Given the description of an element on the screen output the (x, y) to click on. 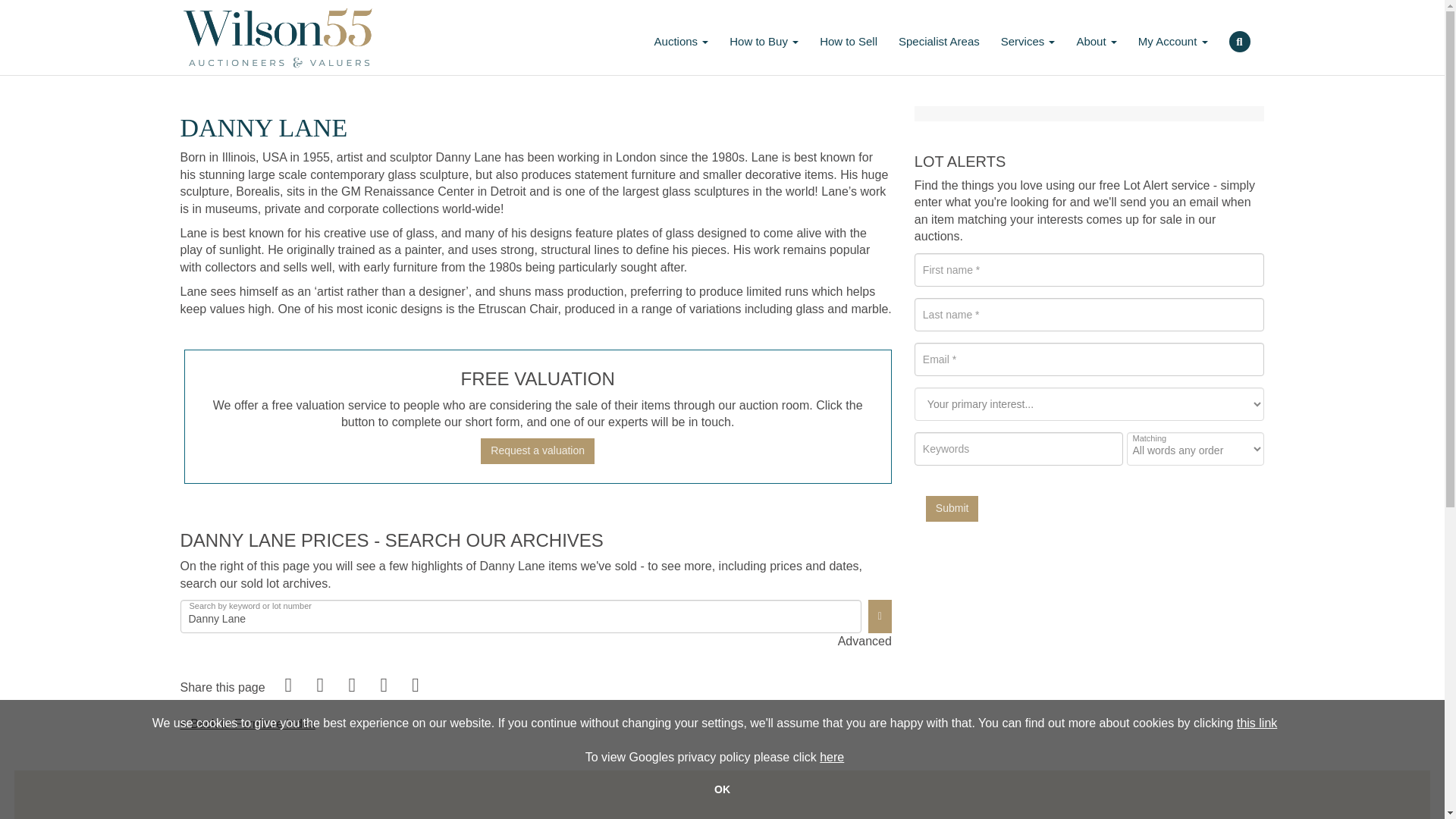
Submit (952, 508)
How to Sell (848, 35)
Services (1027, 35)
How to Buy (764, 35)
Request a valuation (537, 451)
Specialist Areas (939, 35)
Danny Lane (520, 616)
About (1095, 35)
Advanced (864, 641)
My Account (1172, 35)
Auctions (681, 35)
